Given the description of an element on the screen output the (x, y) to click on. 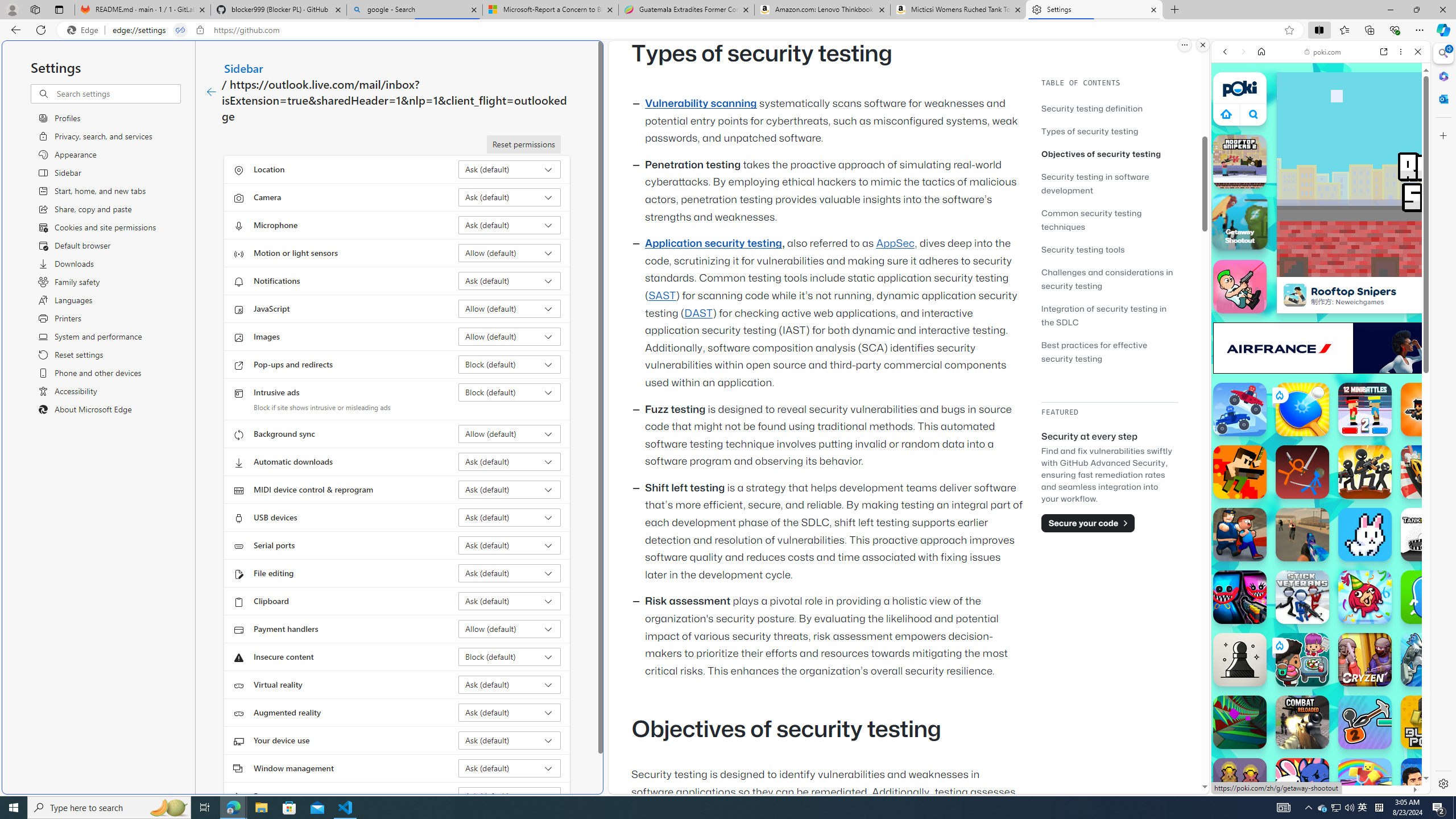
Combat Reloaded Combat Reloaded poki.com (1349, 548)
Getaway Shootout Getaway Shootout (1239, 221)
Combat Reloaded (1348, 574)
Hills of Steel (1264, 580)
G-Switch 4 G-Switch 4 (1427, 659)
Io Games (1320, 350)
Show More Io Games (1390, 351)
Combat Reloaded (1349, 580)
Car Games (1320, 267)
